Given the description of an element on the screen output the (x, y) to click on. 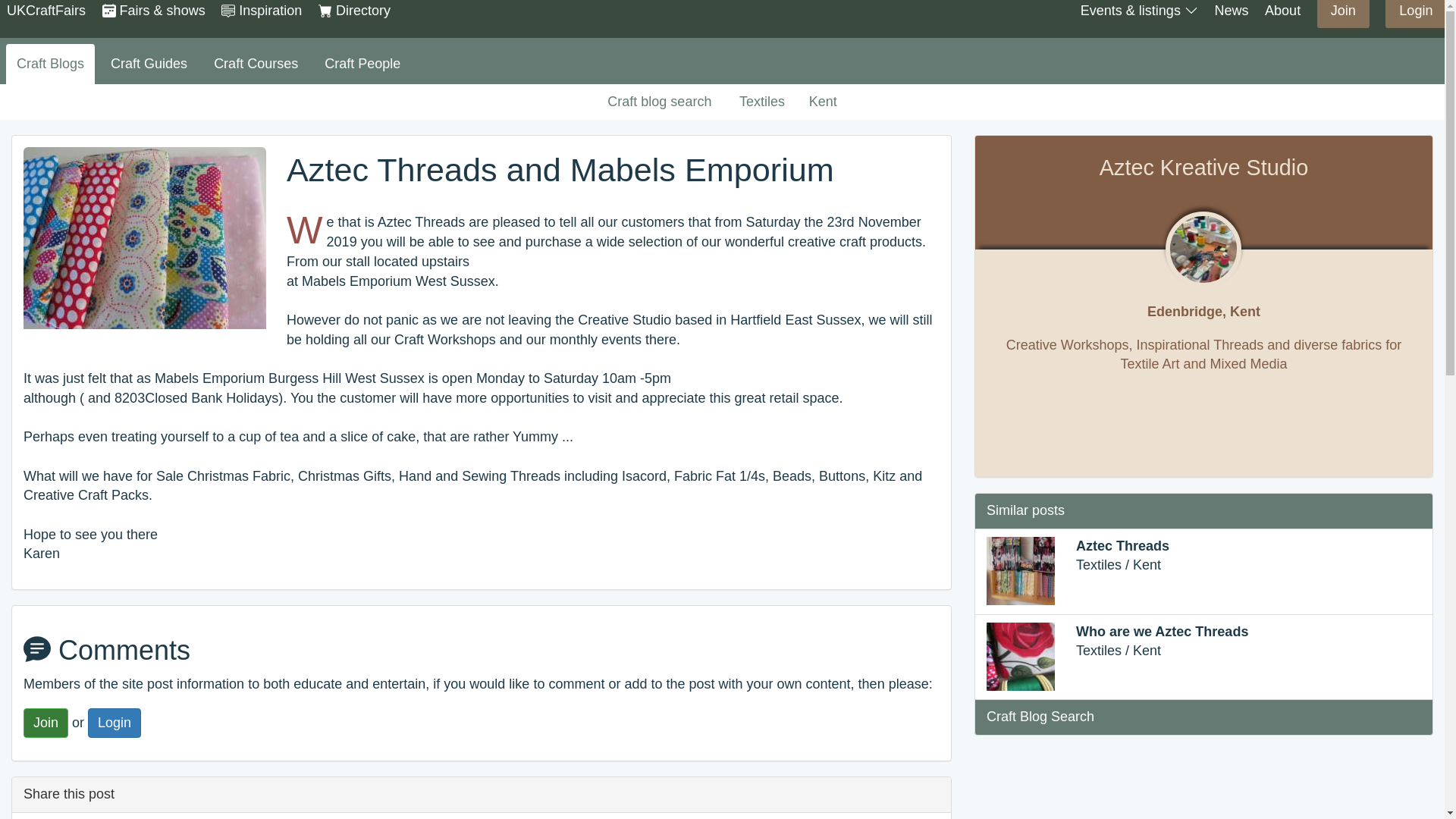
Craft blog search (659, 101)
Join (45, 723)
Search the directory and view the shop window (354, 10)
Search the craft blogs and gain inspiration (261, 10)
Kent (822, 101)
Directory (354, 10)
Become a member of UKCraftFairs (1343, 10)
Login (114, 723)
Craft People (362, 64)
